Given the description of an element on the screen output the (x, y) to click on. 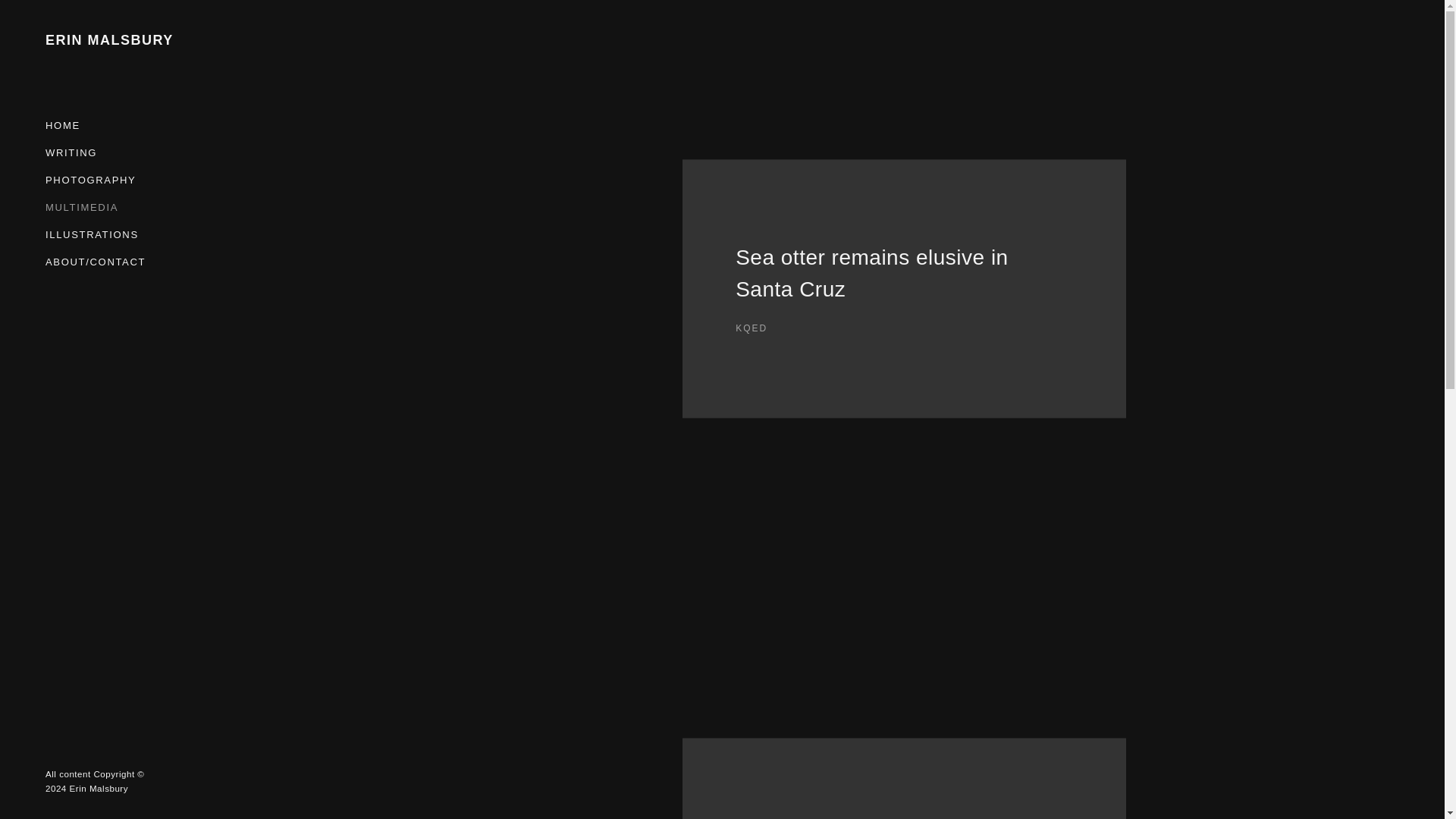
WRITING (71, 152)
ERIN MALSBURY (113, 40)
ILLUSTRATIONS (91, 234)
PHOTOGRAPHY (90, 180)
HOME (81, 207)
